Given the description of an element on the screen output the (x, y) to click on. 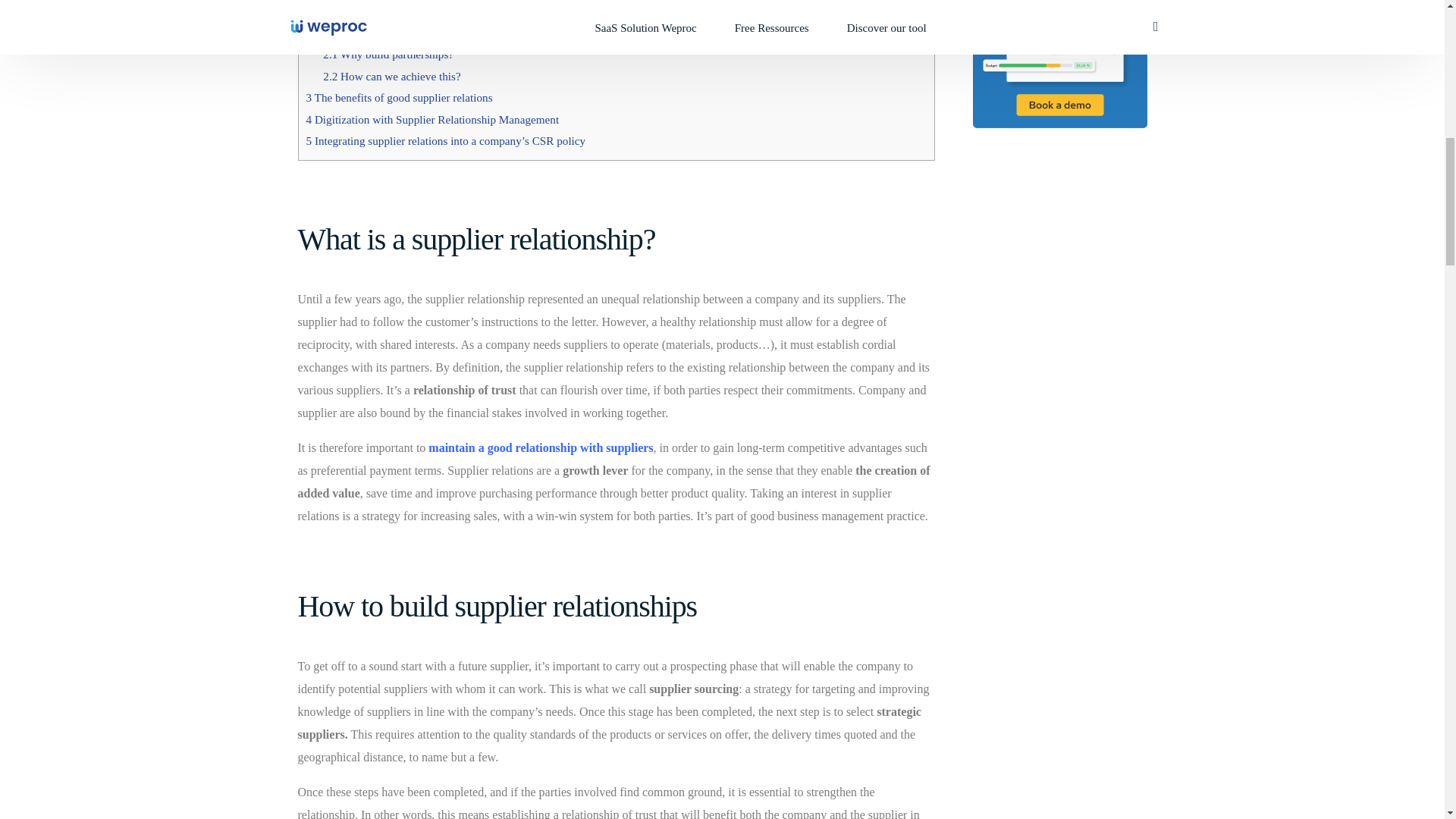
3 The benefits of good supplier relations (399, 97)
2 How to build supplier relationships (391, 32)
2.2 How can we achieve this? (391, 75)
4 Digitization with Supplier Relationship Management (432, 119)
1 What is a supplier relationship? (382, 10)
maintain a good relationship with suppliers (540, 447)
2.1 Why build partnerships? (387, 53)
